Given the description of an element on the screen output the (x, y) to click on. 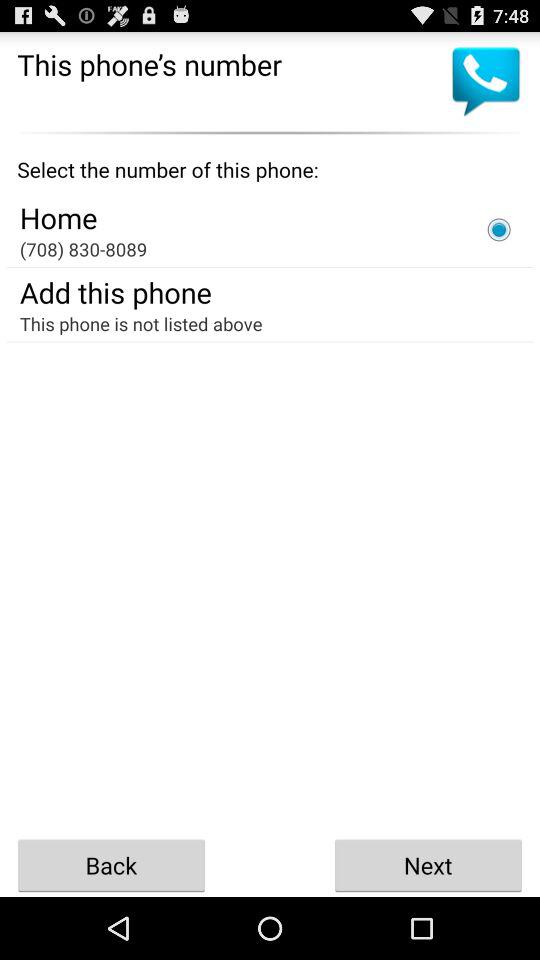
go to icon (499, 229)
